Given the description of an element on the screen output the (x, y) to click on. 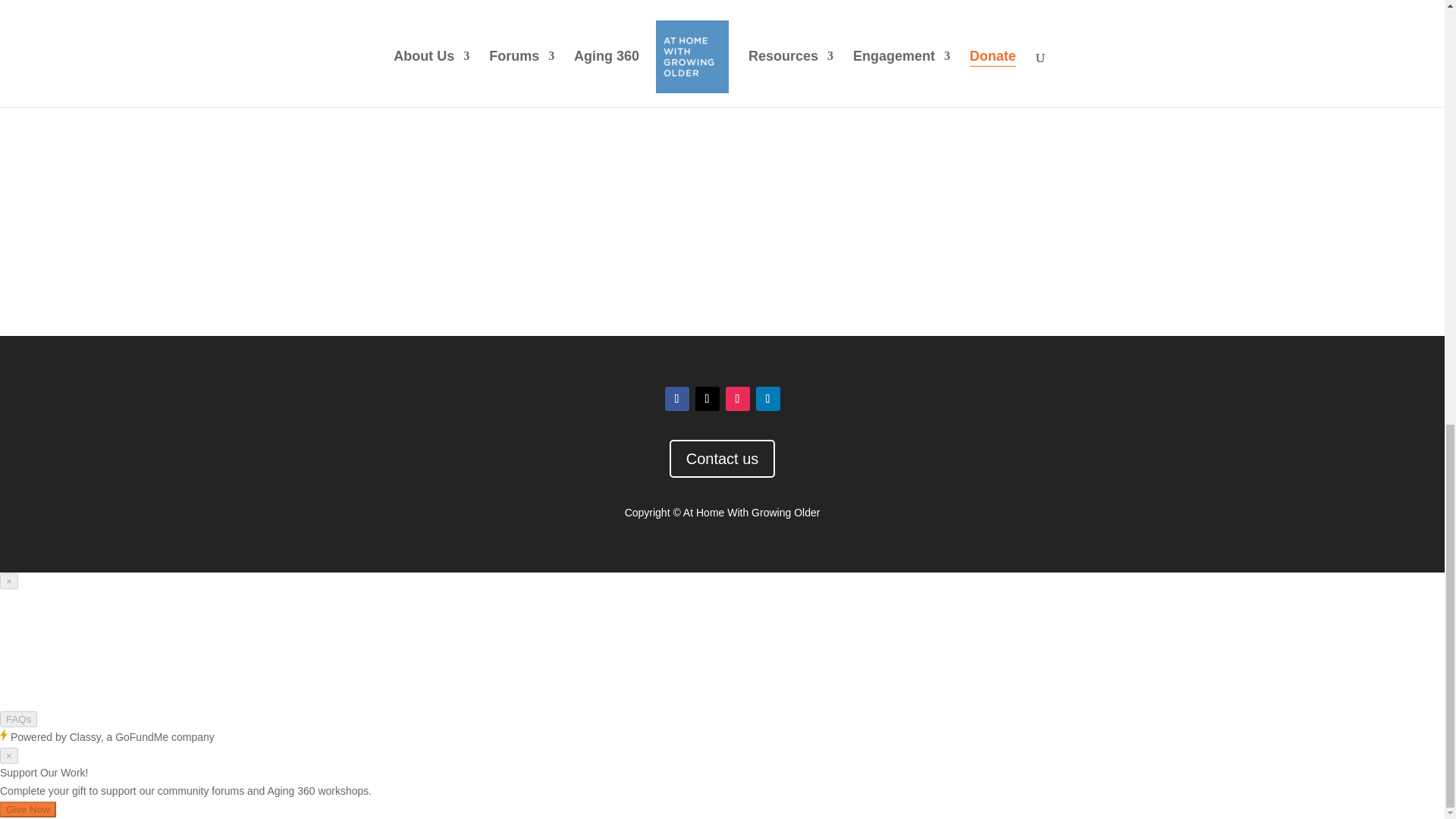
Follow on LinkedIn (766, 398)
Follow on X (706, 398)
Follow on Instagram (737, 398)
Follow on Facebook (675, 398)
